Given the description of an element on the screen output the (x, y) to click on. 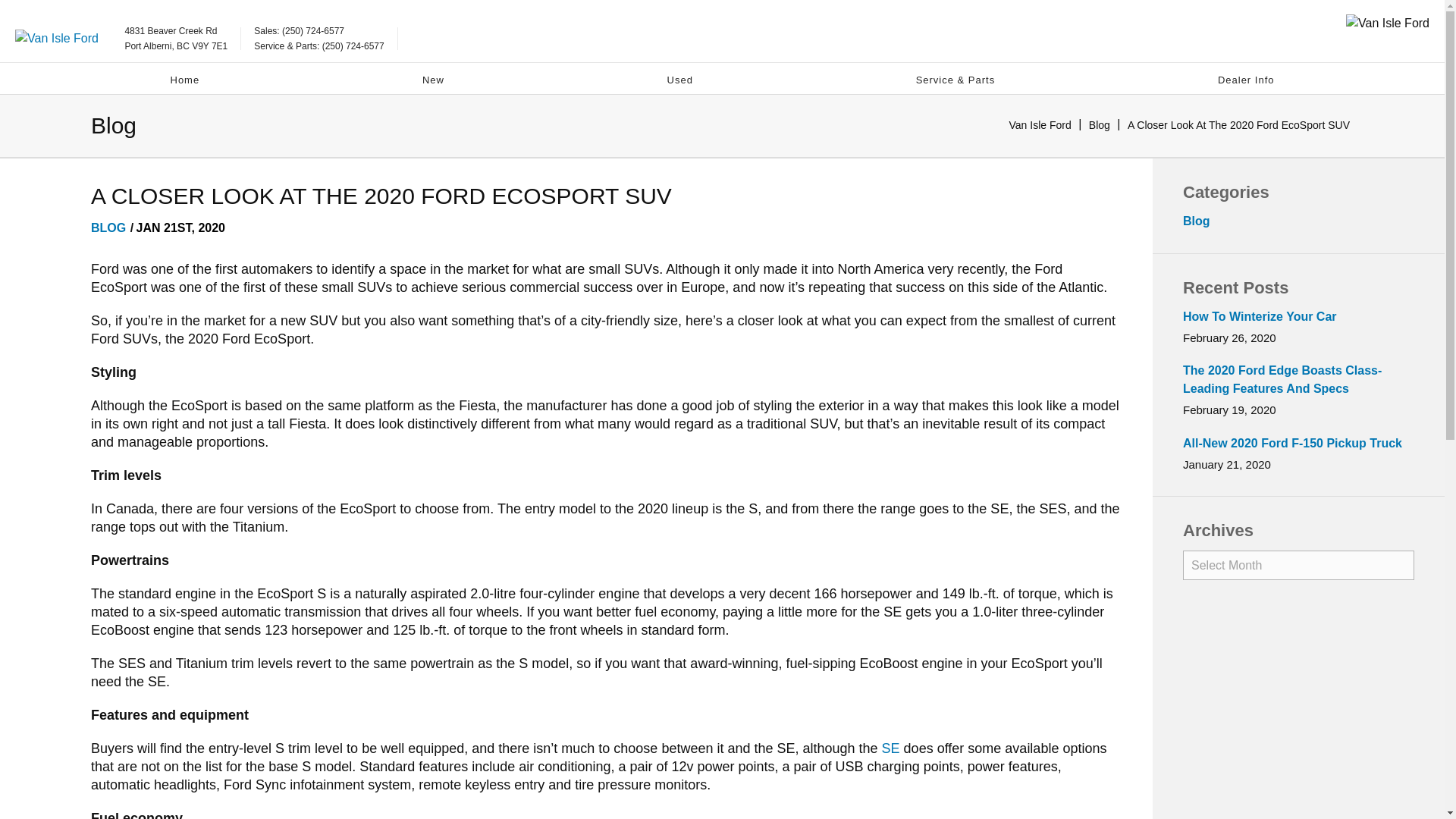
SE (890, 748)
New (433, 80)
Used (679, 80)
Go to the Blog category archives. (1099, 124)
BLOG (107, 227)
Blog (1099, 124)
Van Isle Ford (1040, 124)
Go to Van Isle Ford. (1040, 124)
Dealer Info (1246, 80)
Home (175, 38)
 Van Isle Ford (183, 80)
